Given the description of an element on the screen output the (x, y) to click on. 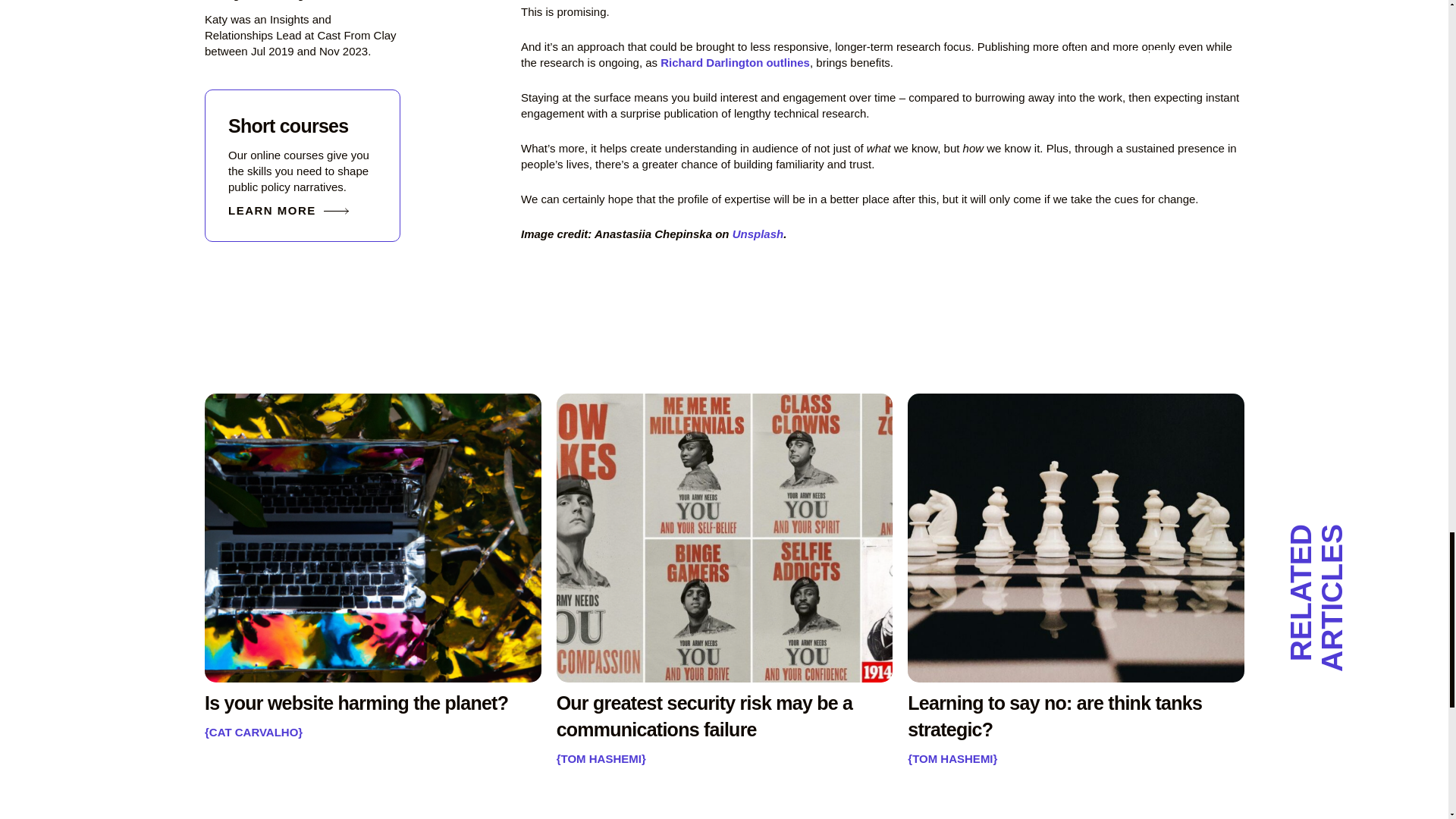
Unsplash (758, 233)
Richard Darlington outlines (735, 62)
